Given the description of an element on the screen output the (x, y) to click on. 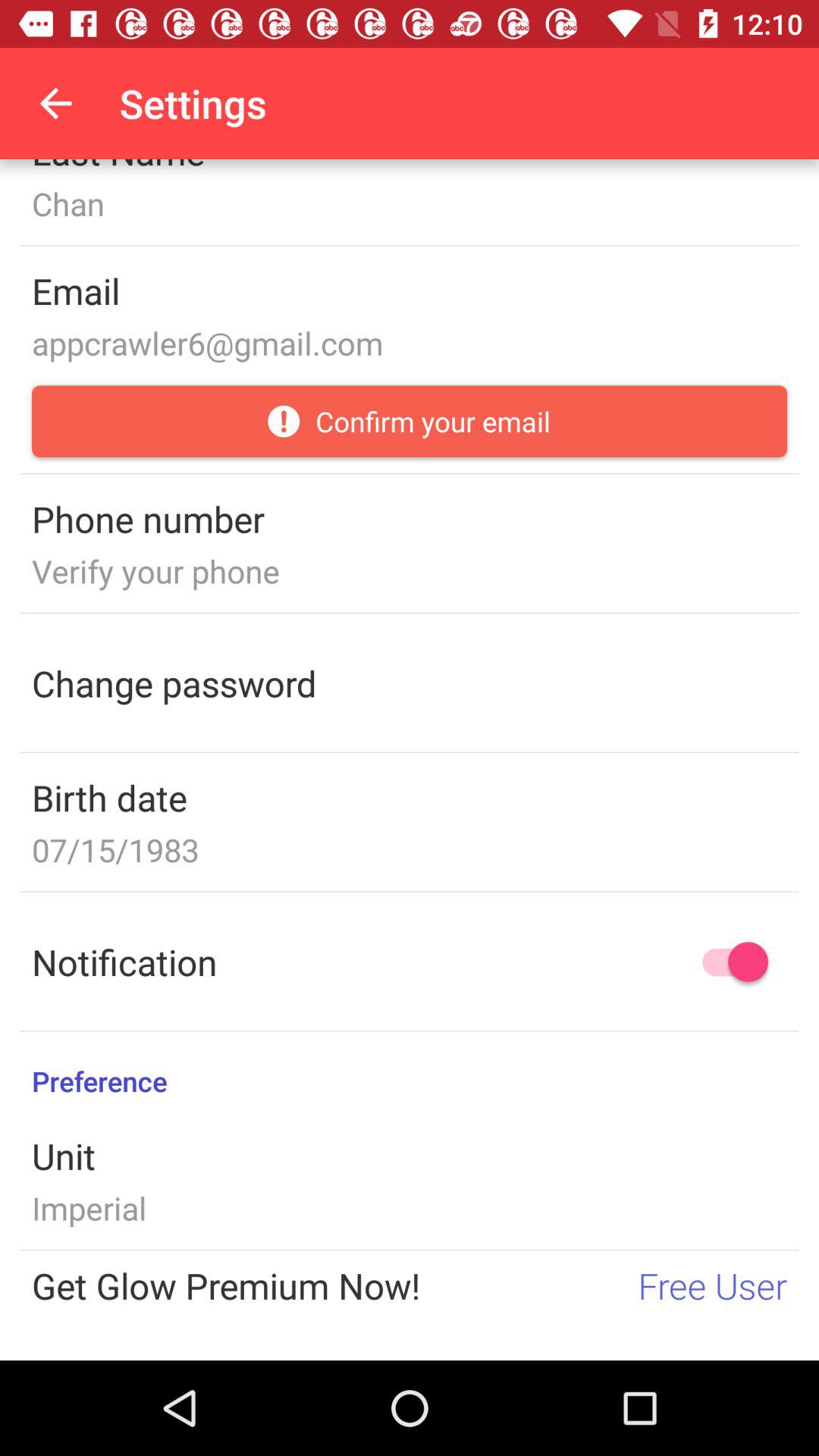
notification toggle option (727, 962)
